Given the description of an element on the screen output the (x, y) to click on. 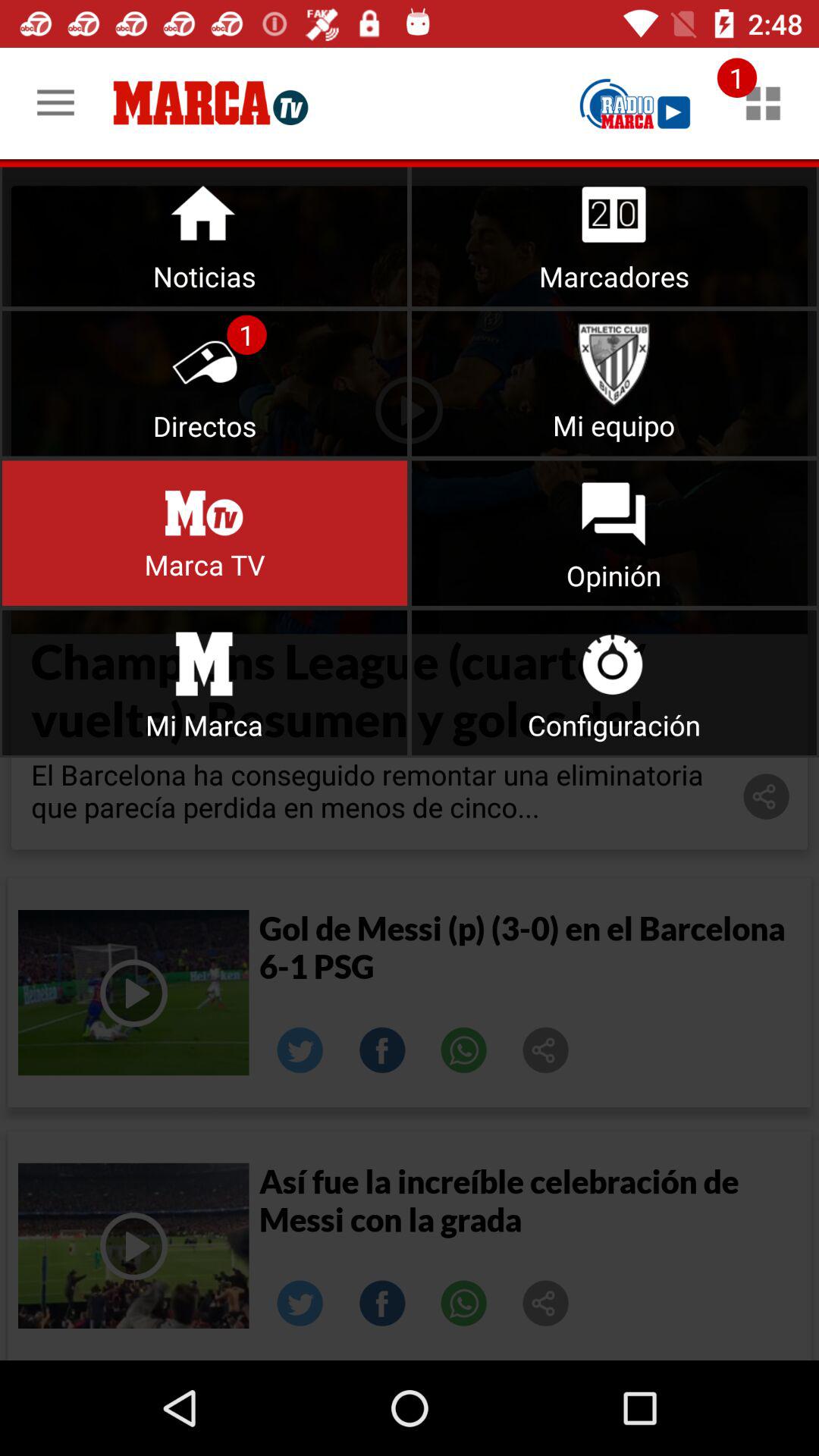
press icon above the el barcelona ha icon (614, 682)
